Given the description of an element on the screen output the (x, y) to click on. 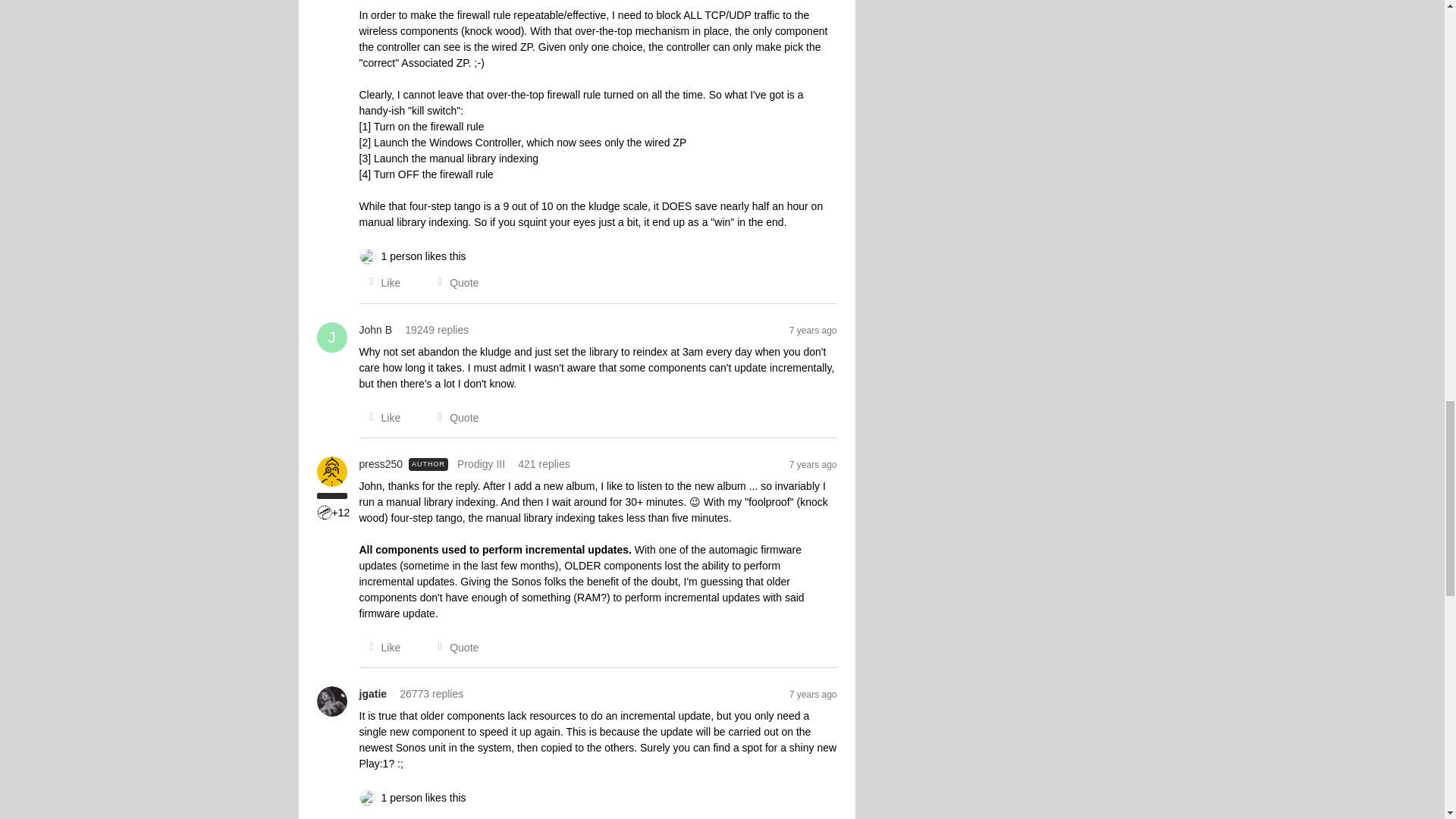
Amping it up III (324, 512)
press250 (381, 464)
John B (376, 330)
jgatie (373, 693)
